Given the description of an element on the screen output the (x, y) to click on. 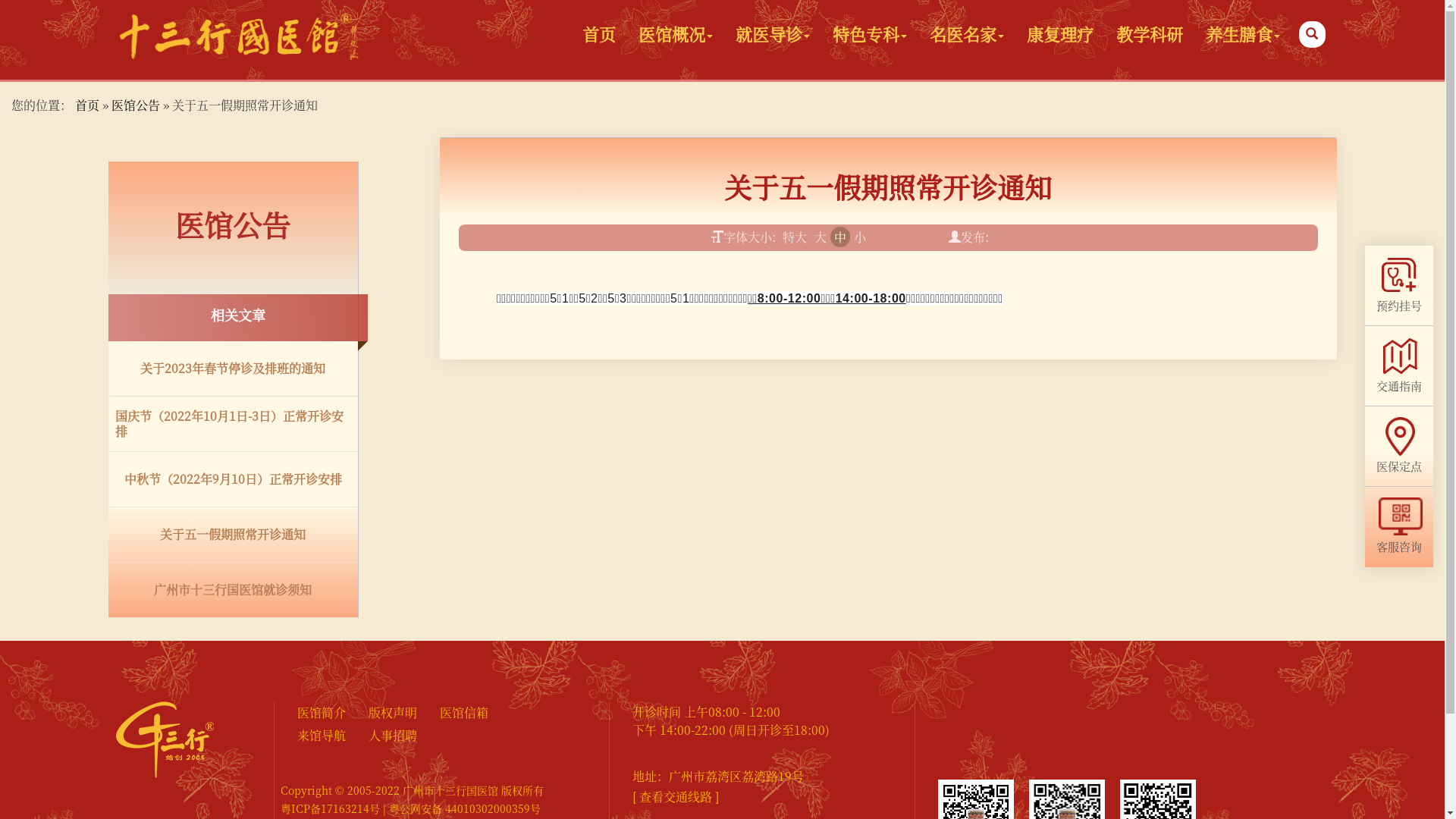
logo Element type: hover (238, 36)
